Given the description of an element on the screen output the (x, y) to click on. 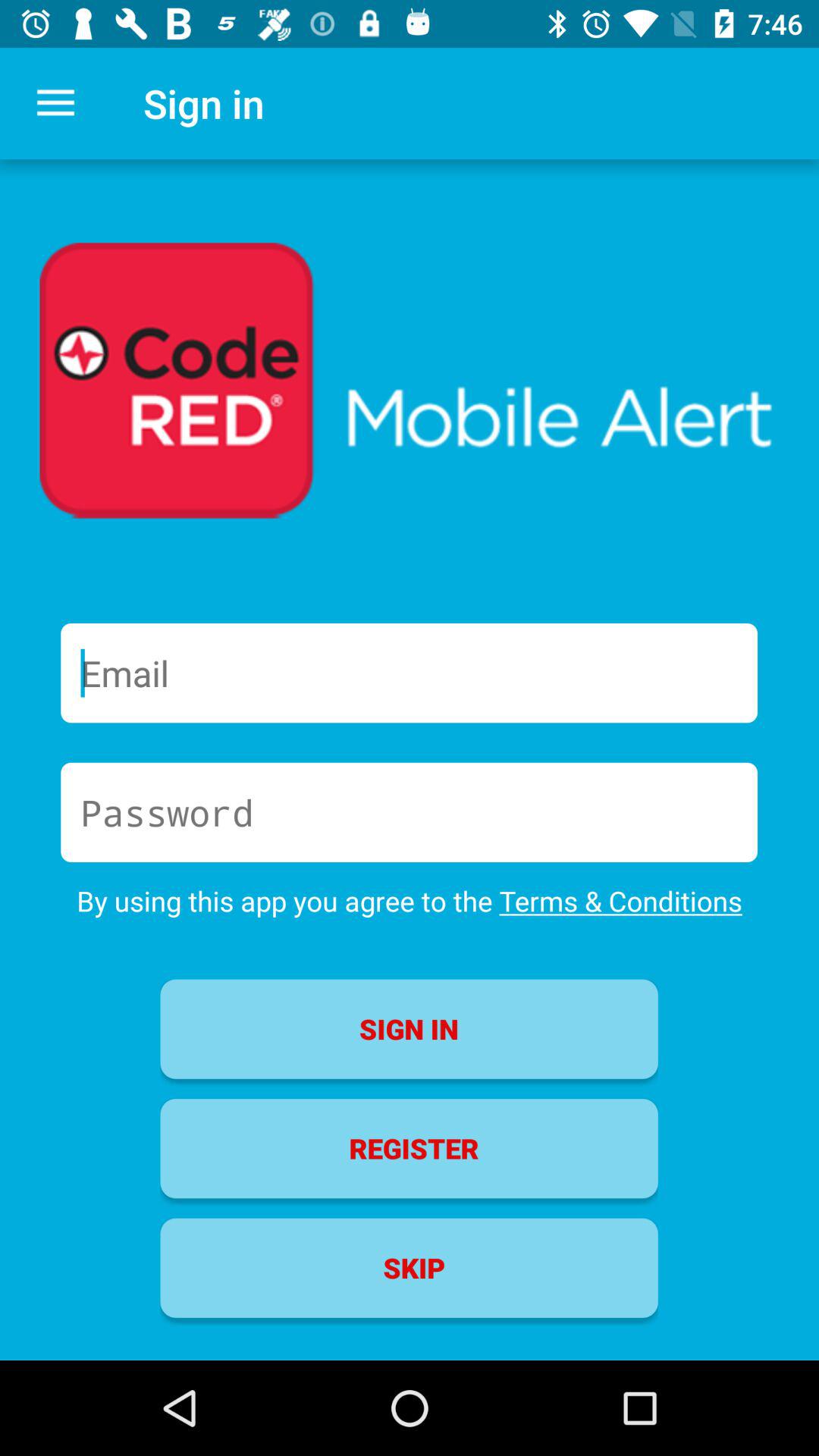
scroll until register icon (409, 1148)
